Given the description of an element on the screen output the (x, y) to click on. 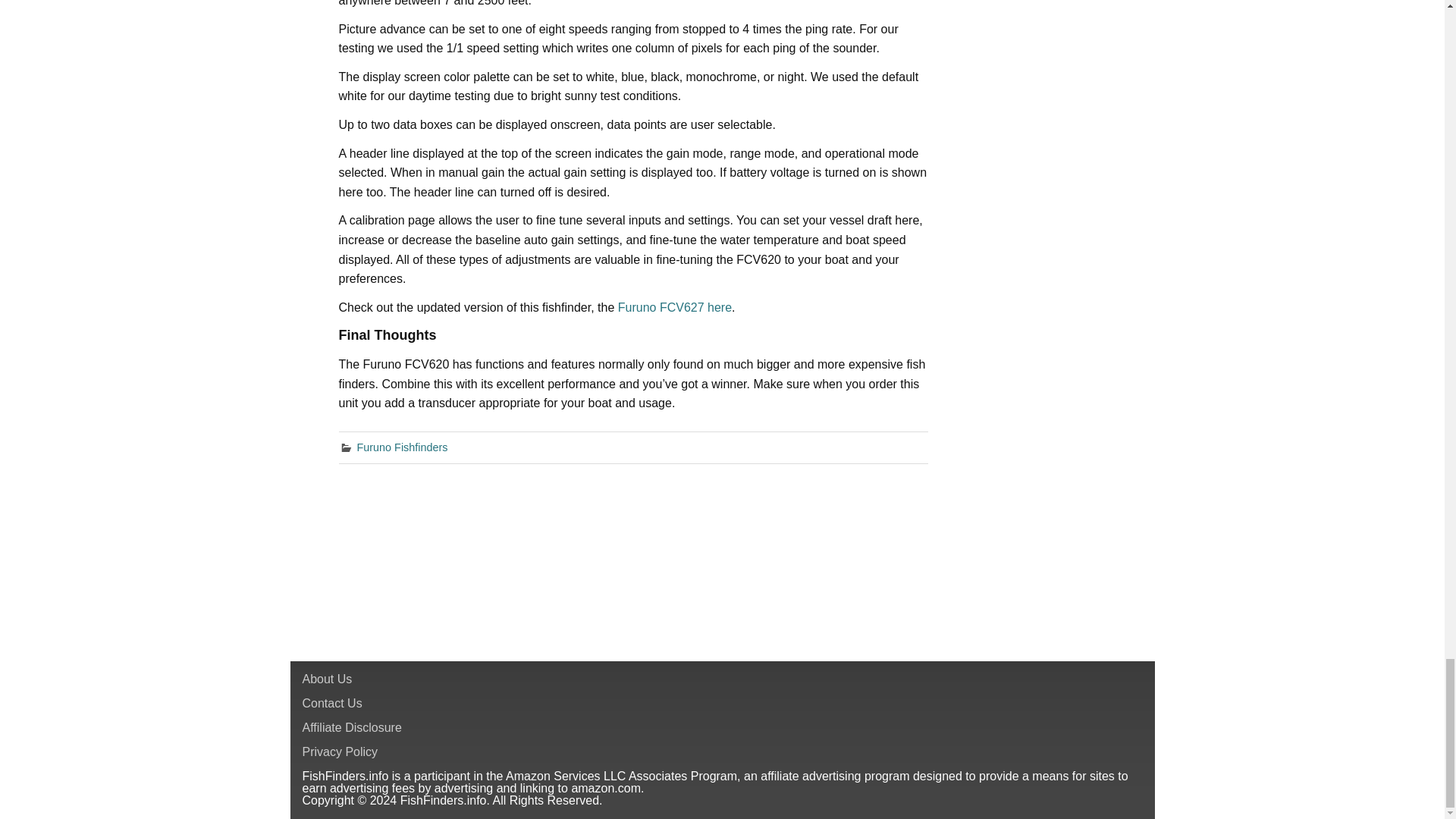
Furuno Fishfinders (401, 447)
Furuno FCV627 here (674, 307)
